Given the description of an element on the screen output the (x, y) to click on. 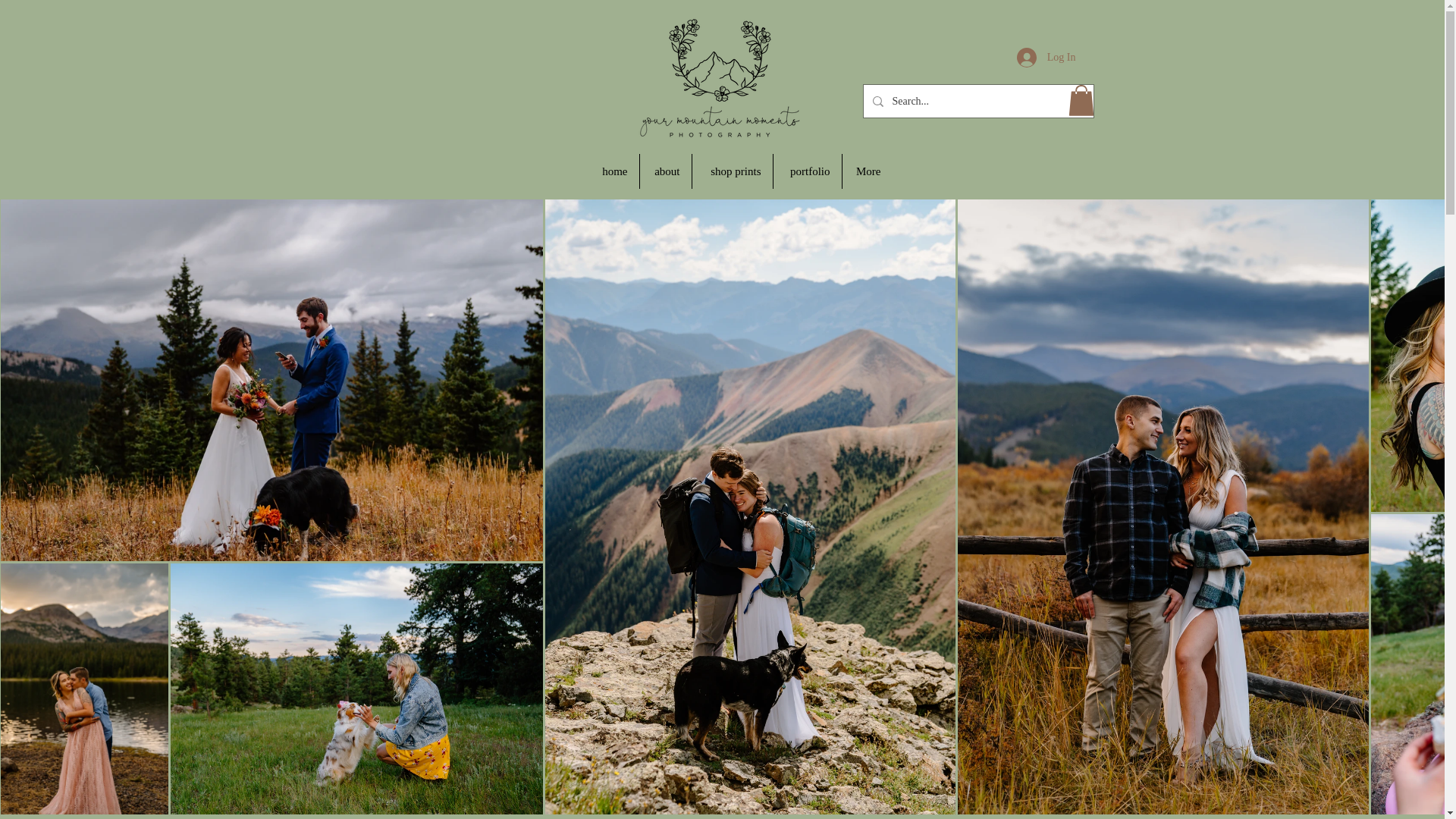
shop prints (731, 171)
about (665, 171)
home (612, 171)
Log In (1046, 57)
